Given the description of an element on the screen output the (x, y) to click on. 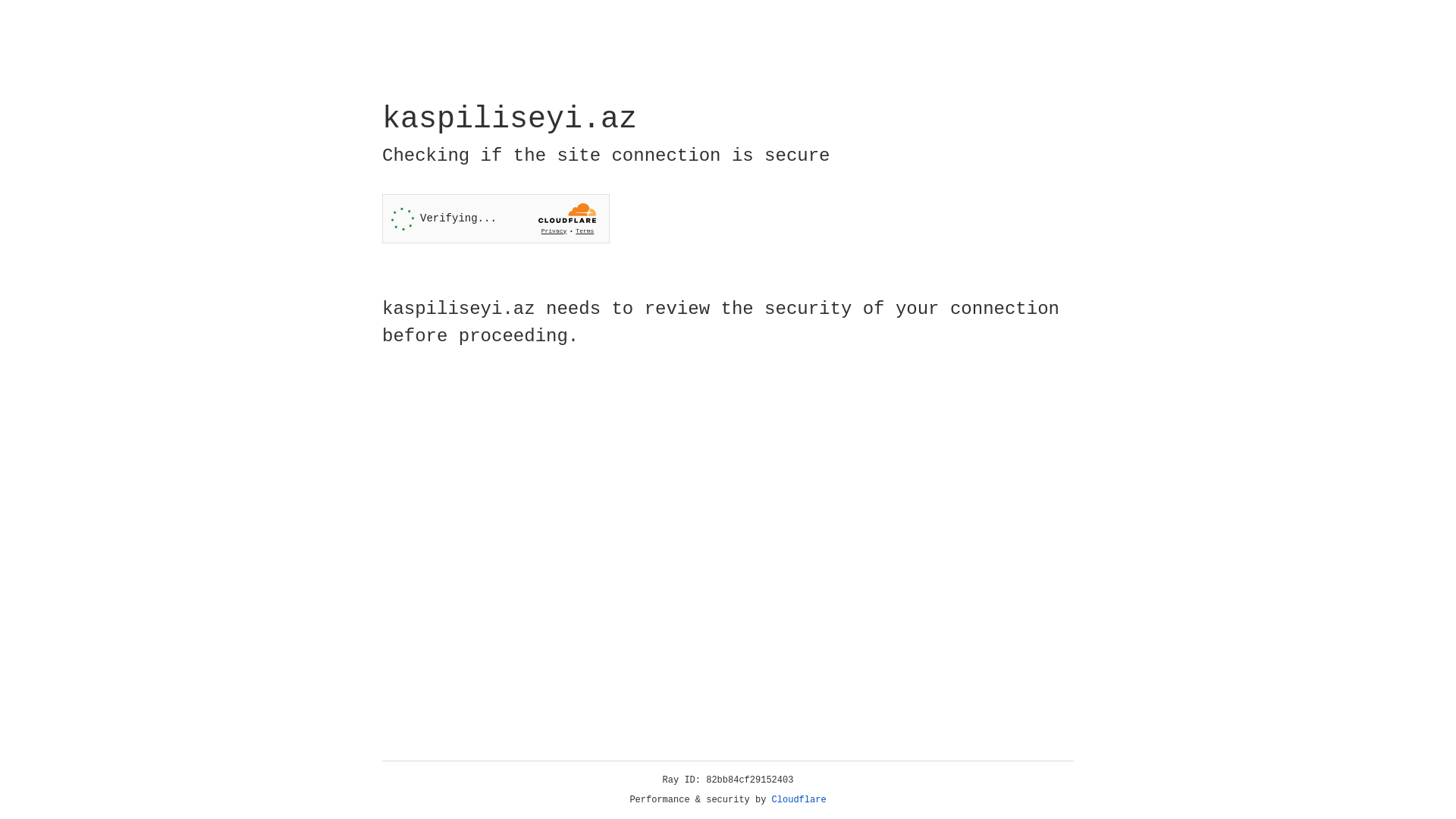
Cloudflare Element type: text (798, 799)
Widget containing a Cloudflare security challenge Element type: hover (495, 218)
